Given the description of an element on the screen output the (x, y) to click on. 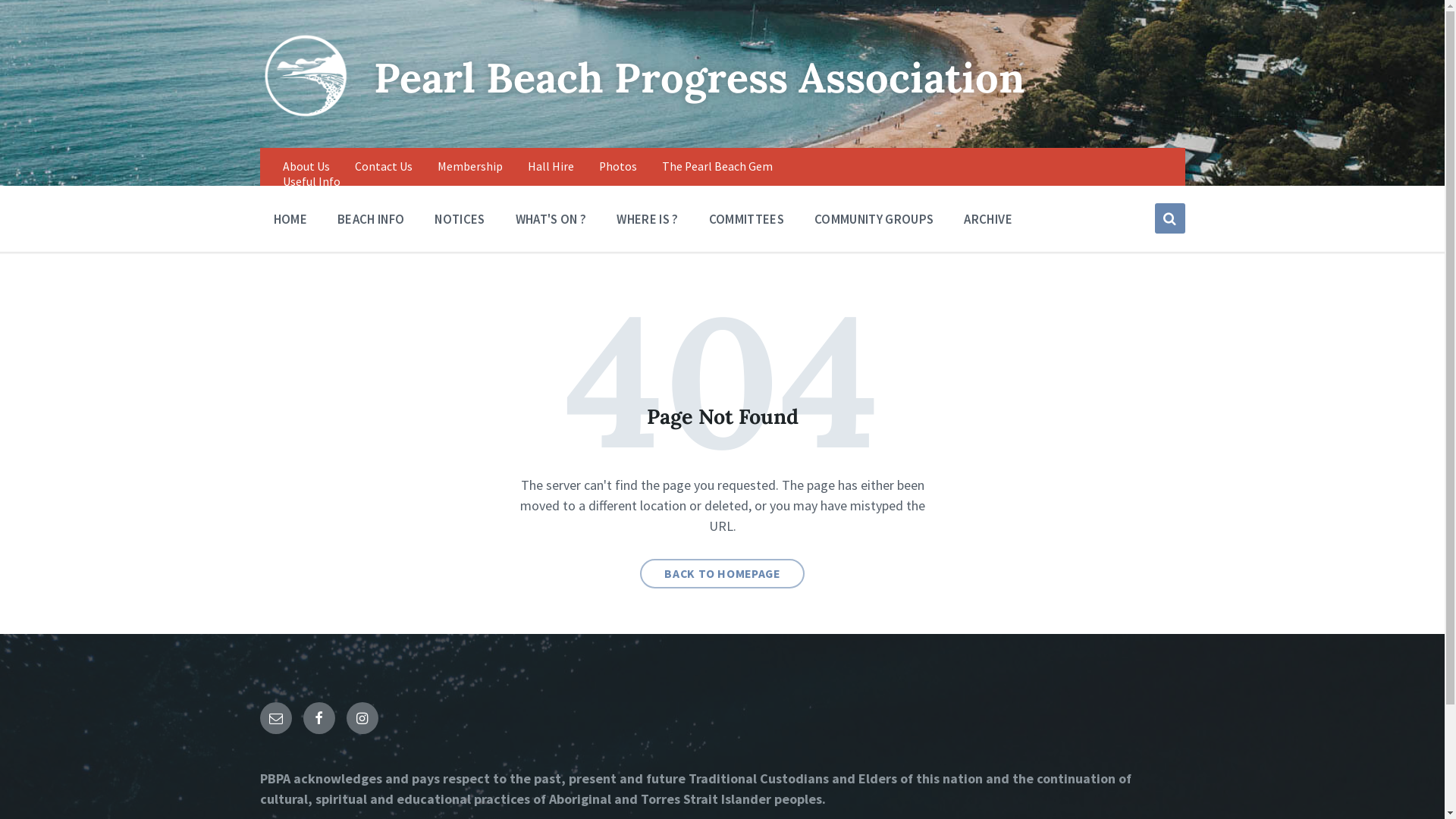
Membership Element type: text (469, 166)
About Us Element type: text (305, 166)
Photos Element type: text (618, 166)
COMMITTEES Element type: text (746, 217)
COMMUNITY GROUPS Element type: text (873, 217)
Email Element type: text (275, 718)
ARCHIVE Element type: text (987, 217)
Instagram Element type: text (361, 718)
Facebook Element type: text (319, 718)
The Pearl Beach Gem Element type: text (716, 166)
Useful Info Element type: text (310, 181)
HOME Element type: text (289, 217)
Expand search Element type: hover (1169, 218)
Hall Hire Element type: text (550, 166)
WHERE IS ? Element type: text (647, 217)
WHAT'S ON ? Element type: text (551, 217)
BACK TO HOMEPAGE Element type: text (721, 573)
Pearl Beach Progress Association Element type: text (698, 77)
Contact Us Element type: text (383, 166)
BEACH INFO Element type: text (370, 217)
NOTICES Element type: text (459, 217)
